Given the description of an element on the screen output the (x, y) to click on. 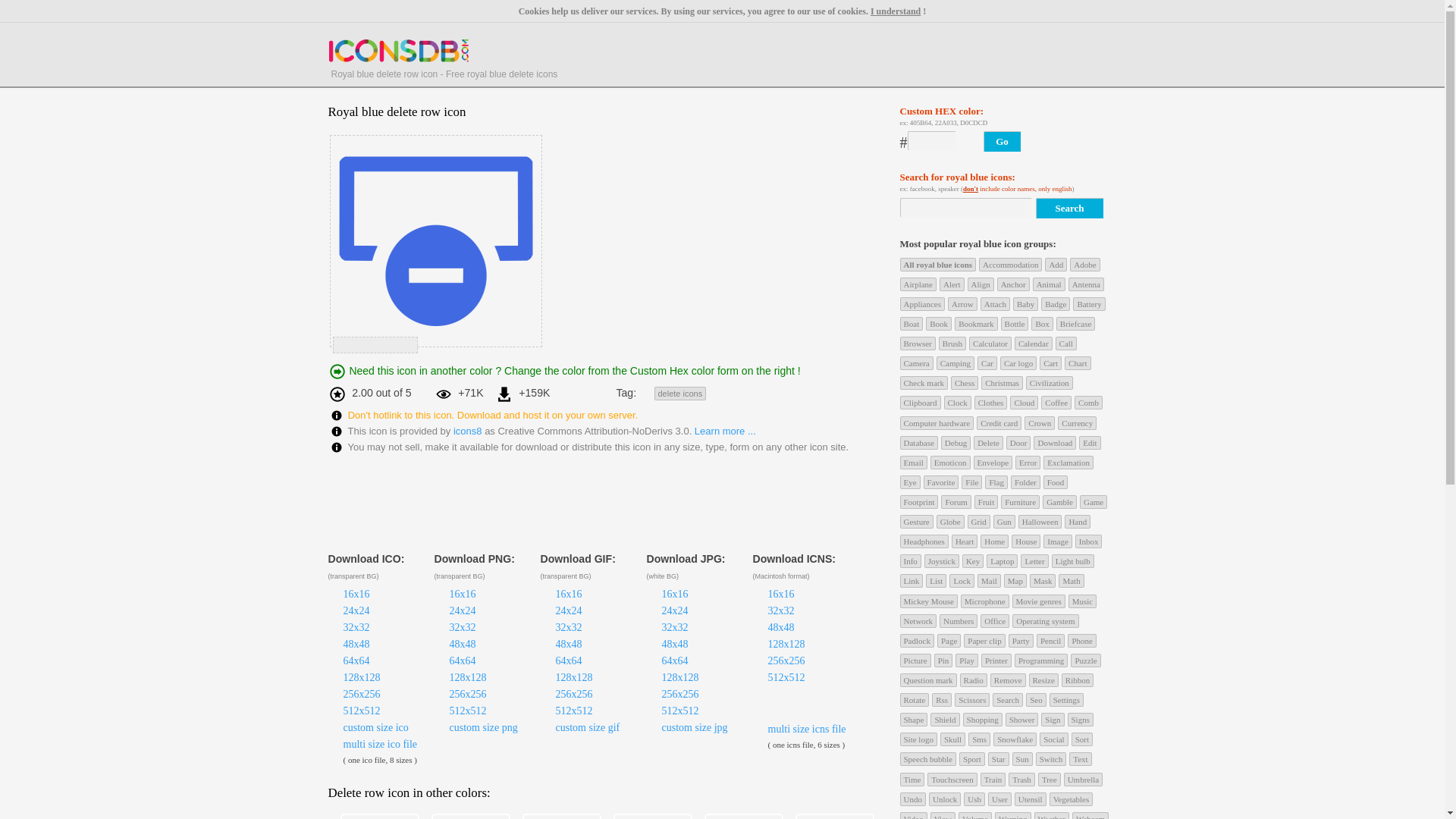
Custom size delete row icon (374, 727)
512x512 (467, 710)
delete icons (679, 393)
5 out of 5 stars (401, 344)
48x48 (355, 644)
256x256 (361, 694)
Royal blue delete row icon - Free royal blue delete icons (398, 48)
64x64 (355, 660)
custom size png (482, 727)
Custom size delete row icon (482, 727)
Custom size delete row icon (587, 727)
128x128 (467, 677)
multi size ico file (379, 744)
512x512 (361, 710)
256x256 (467, 694)
